Given the description of an element on the screen output the (x, y) to click on. 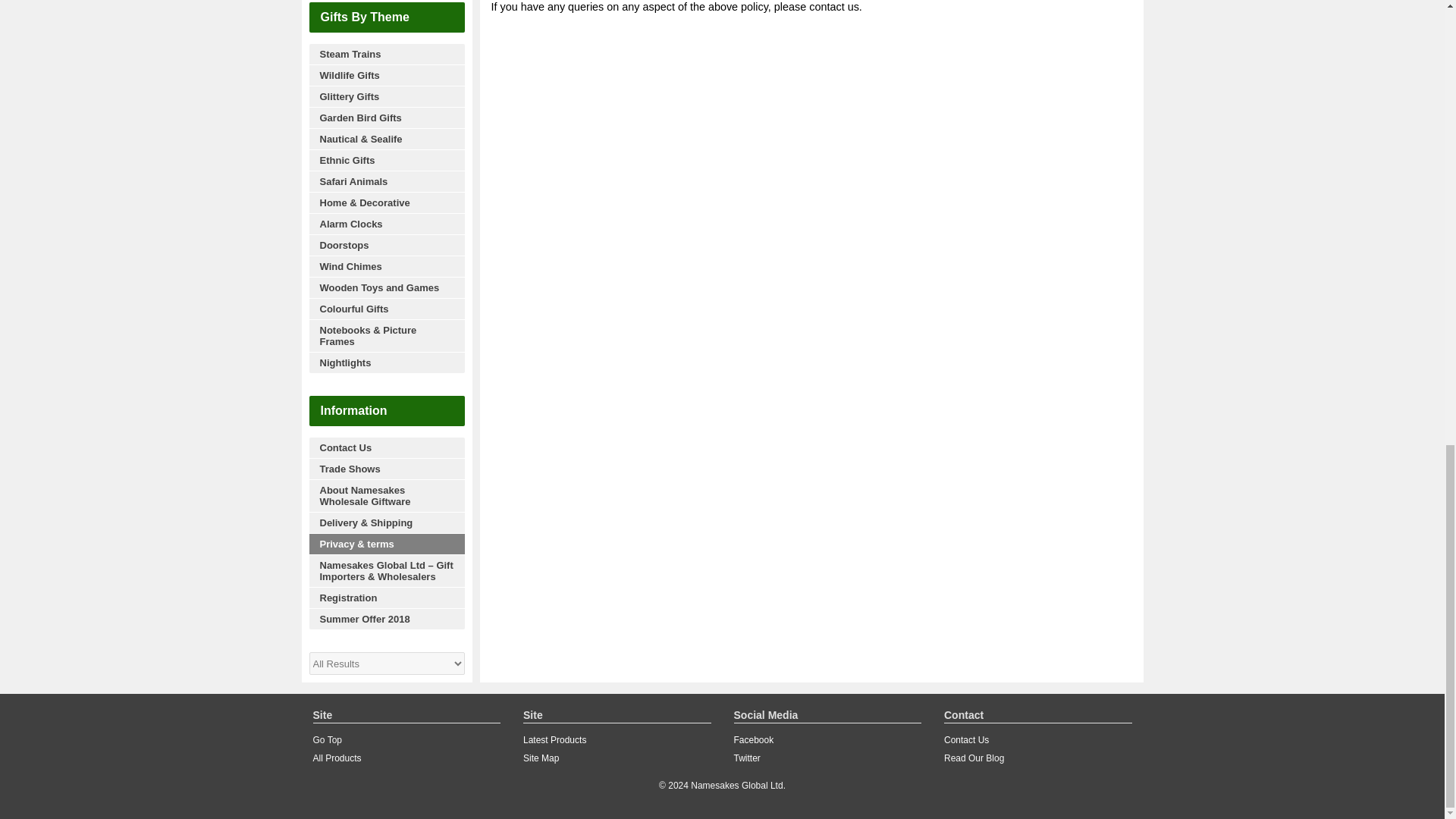
Steam Trains (386, 54)
Safari Animals (386, 180)
Ethnic Gifts (386, 159)
Glittery Gifts (386, 96)
Garden Bird Gifts (386, 117)
Wildlife Gifts (386, 74)
